Given the description of an element on the screen output the (x, y) to click on. 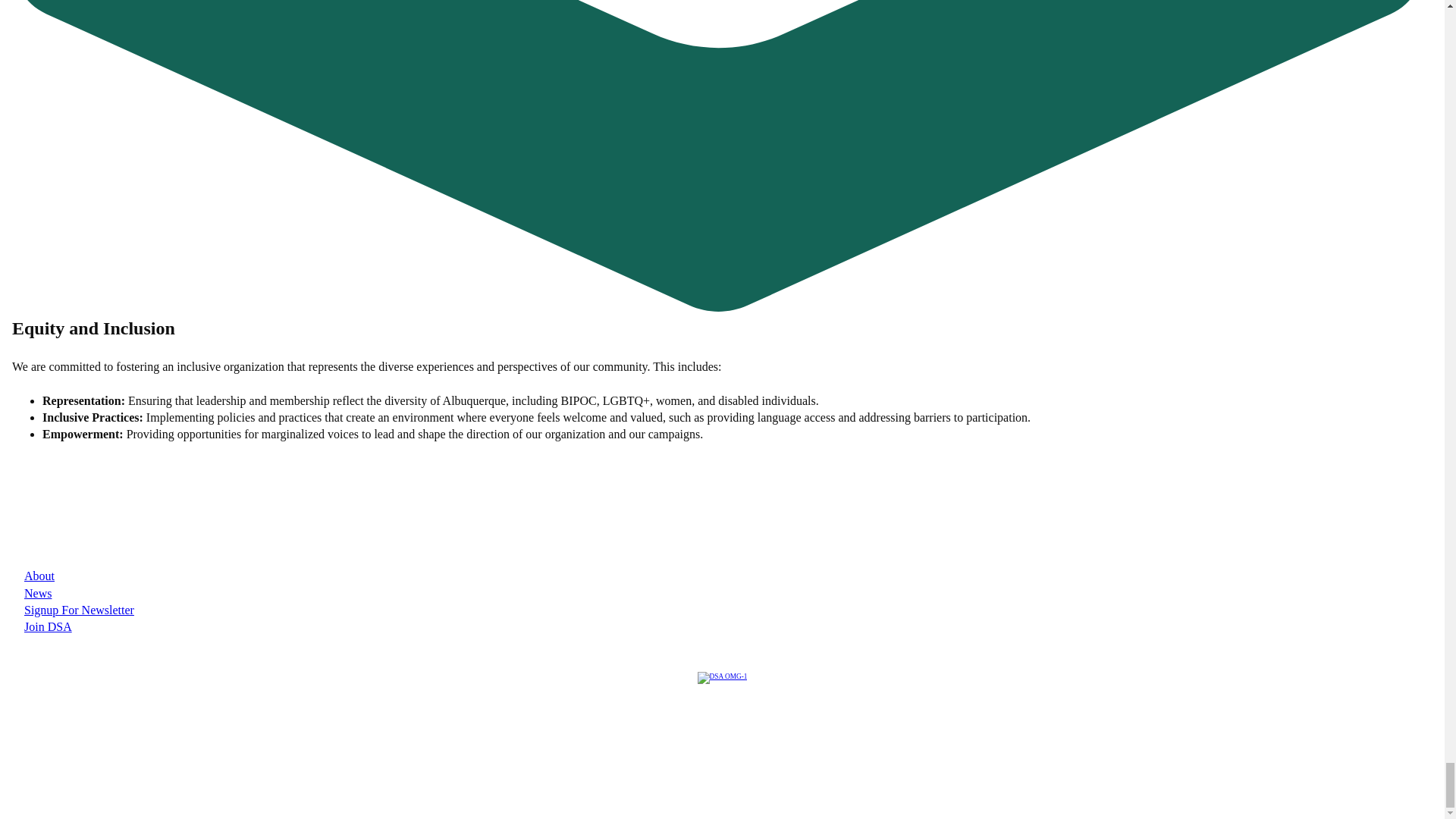
Join DSA (47, 626)
News (37, 593)
Signup For Newsletter (78, 609)
About (39, 575)
